Given the description of an element on the screen output the (x, y) to click on. 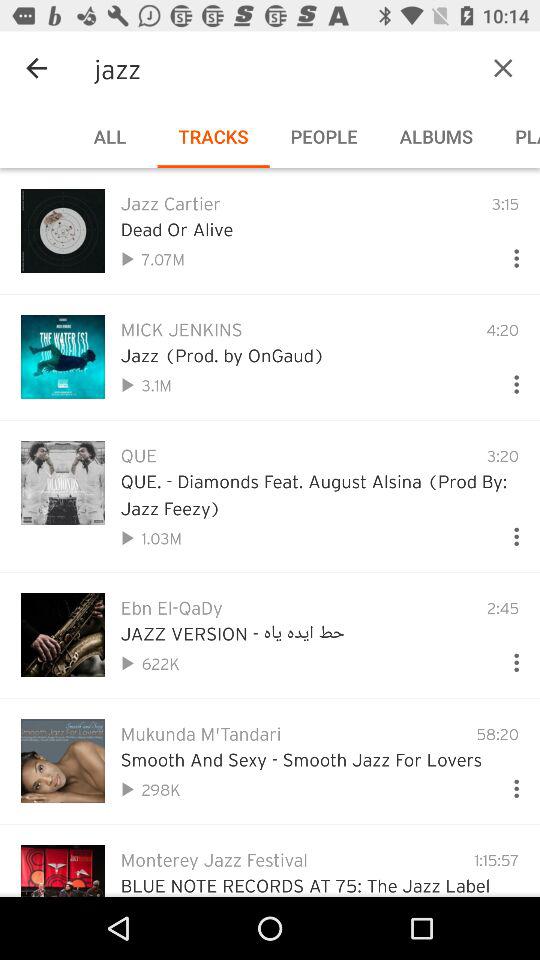
open song options (508, 254)
